Given the description of an element on the screen output the (x, y) to click on. 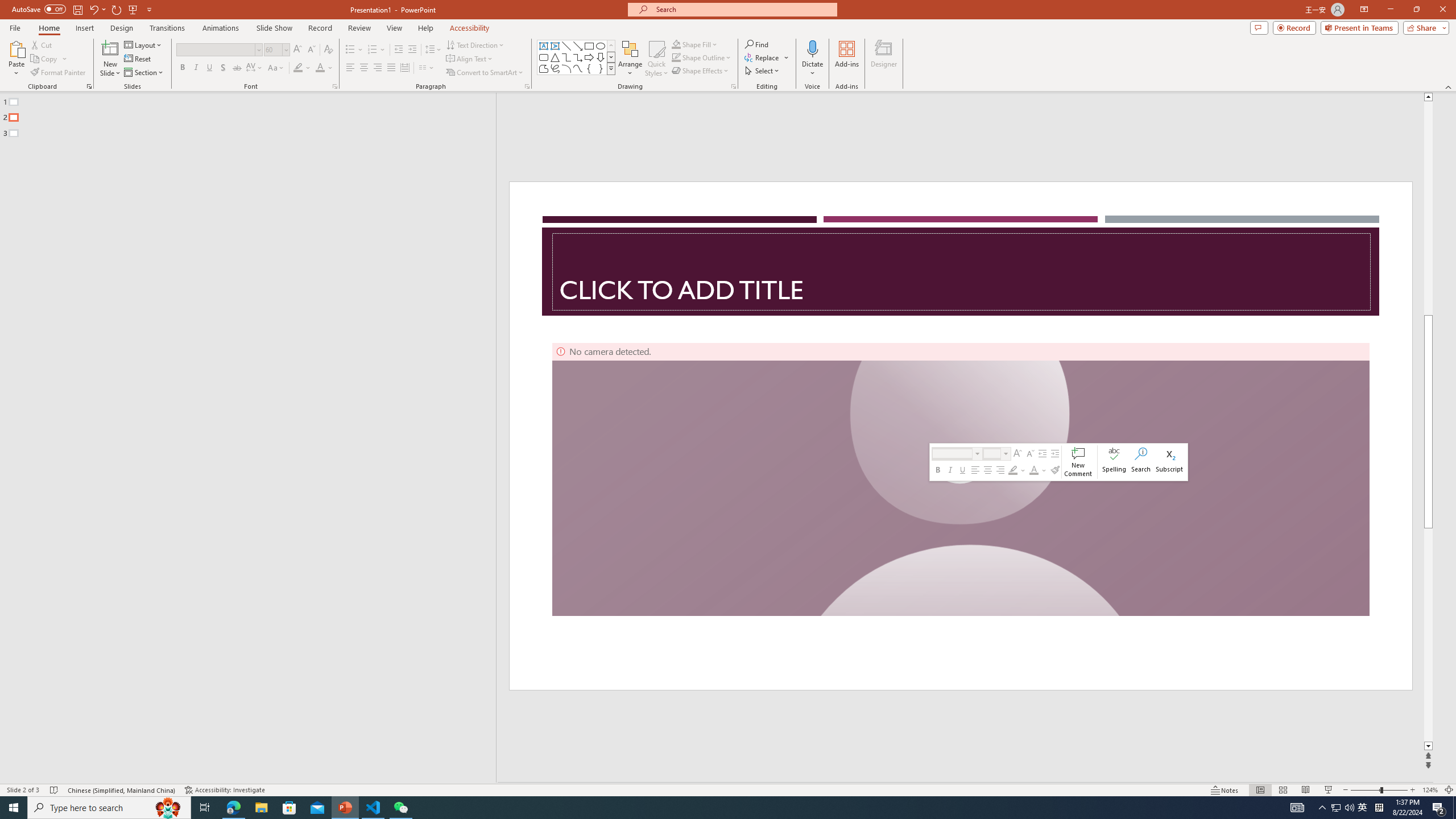
Shape Effects (700, 69)
Font Size (276, 49)
Vertical Text Box (554, 45)
Home (48, 28)
Zoom In (1412, 790)
Microsoft search (742, 9)
Notes  (1225, 790)
New Slide (110, 48)
Freeform: Shape (543, 68)
AutomationID: ShapesInsertGallery (576, 57)
Present in Teams (1359, 27)
Row Down (611, 56)
Text Highlight Color Yellow (297, 67)
Curve (577, 68)
